Given the description of an element on the screen output the (x, y) to click on. 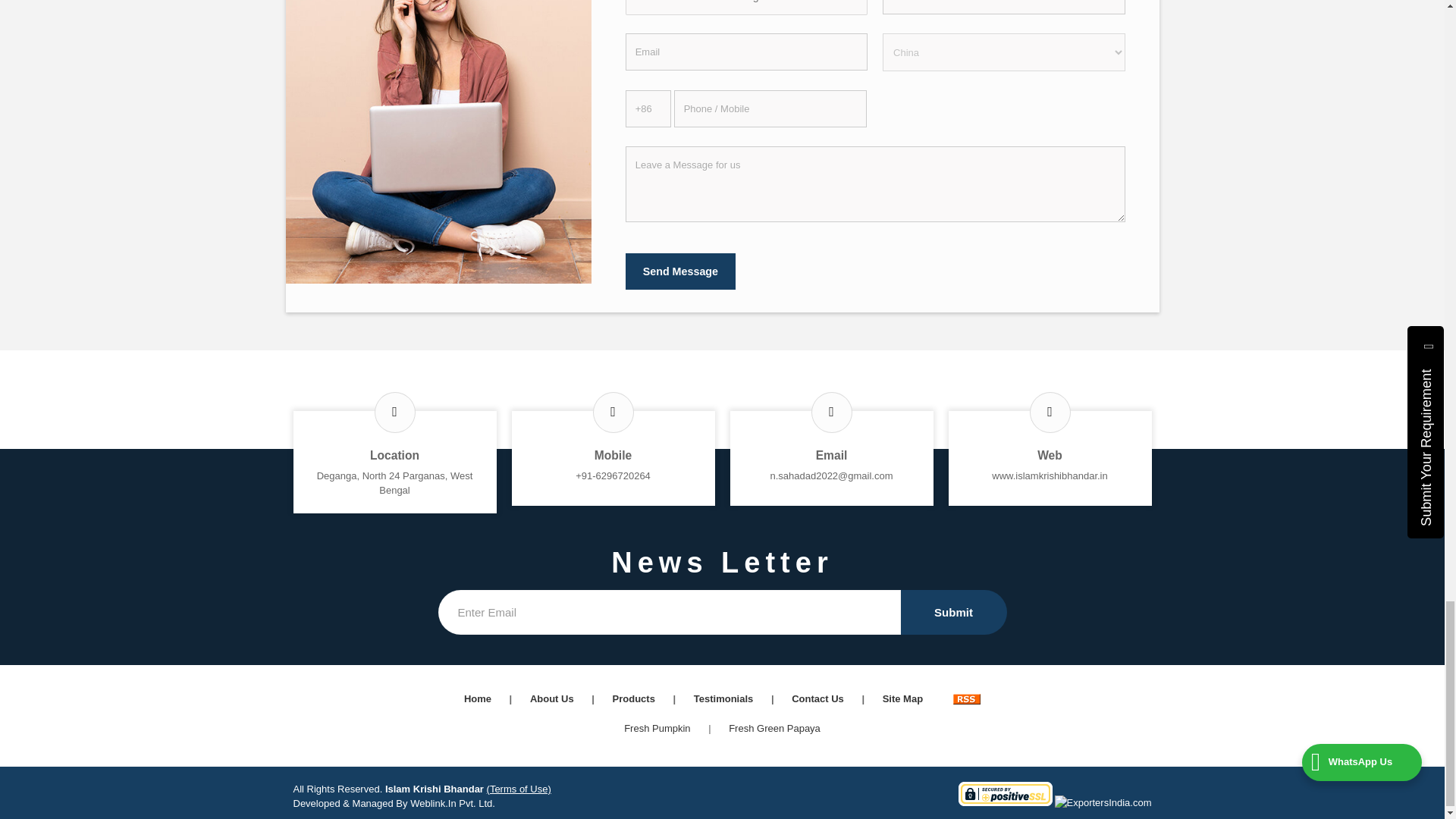
Submit (954, 611)
Send Message (680, 271)
Enter Email (669, 611)
